Given the description of an element on the screen output the (x, y) to click on. 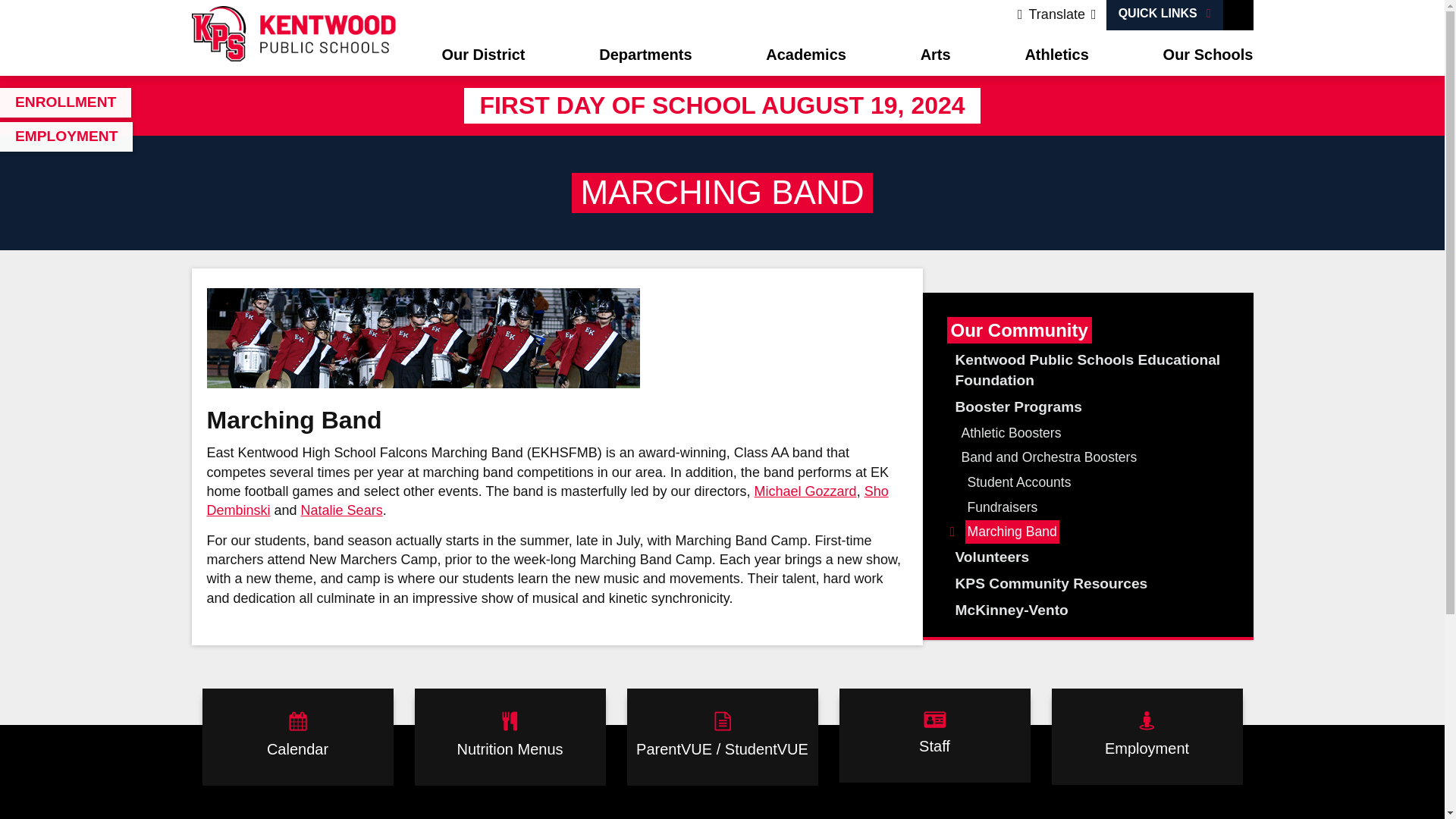
Search (1237, 15)
Featuring New Uniforms (422, 338)
Our District (482, 56)
Departments (644, 56)
